Given the description of an element on the screen output the (x, y) to click on. 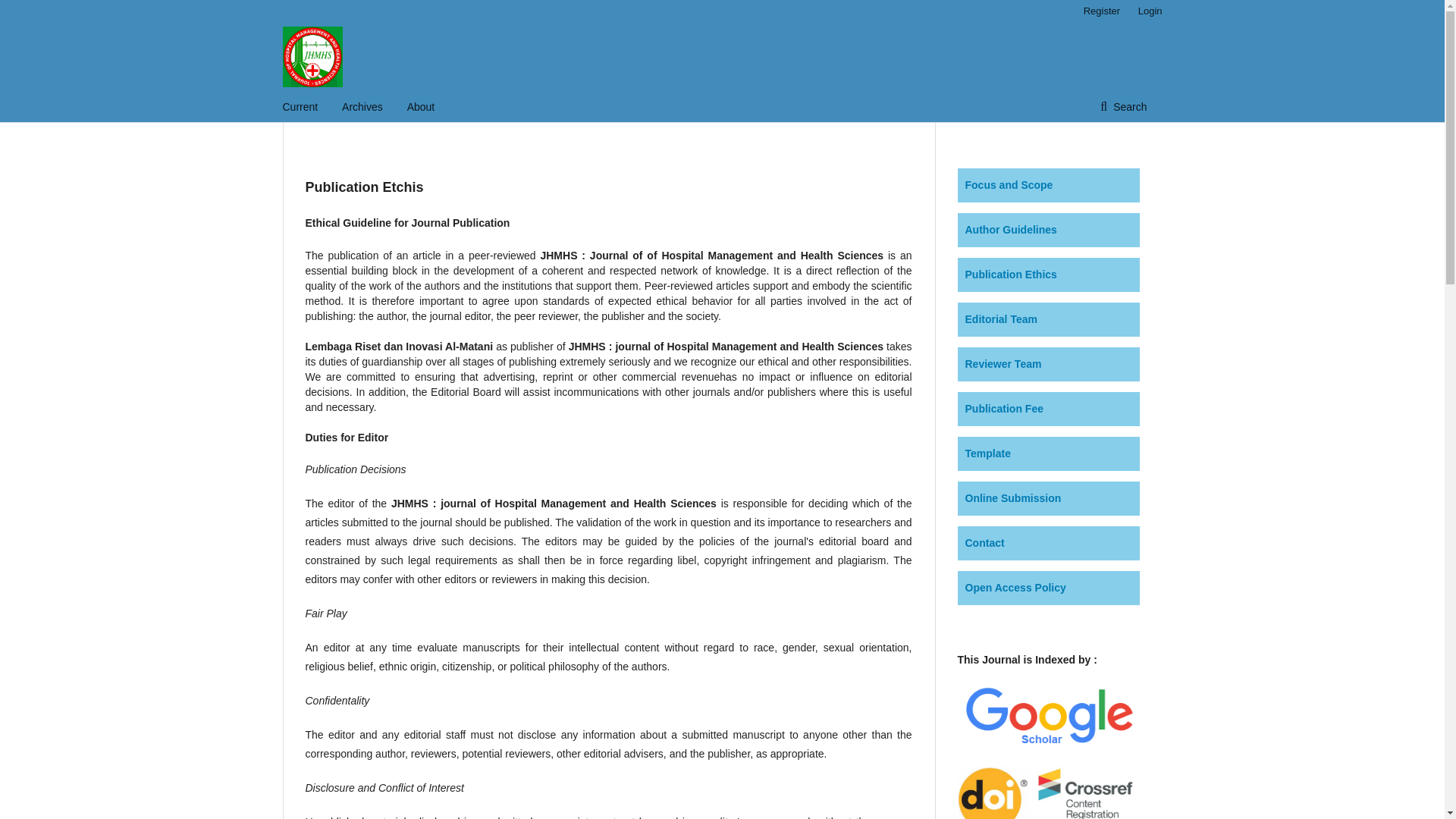
Search (1122, 106)
Author Guidelines (1010, 229)
Publication Ethics (1010, 274)
Focus and Scope (1007, 184)
Open Access Policy (1014, 587)
Contact (983, 542)
Archives (362, 106)
Login (1146, 11)
Publication Fee (1002, 408)
Register (1100, 11)
About (421, 106)
Current (299, 106)
Reviewer Team (1002, 363)
Template (986, 453)
Editorial Team (999, 318)
